Given the description of an element on the screen output the (x, y) to click on. 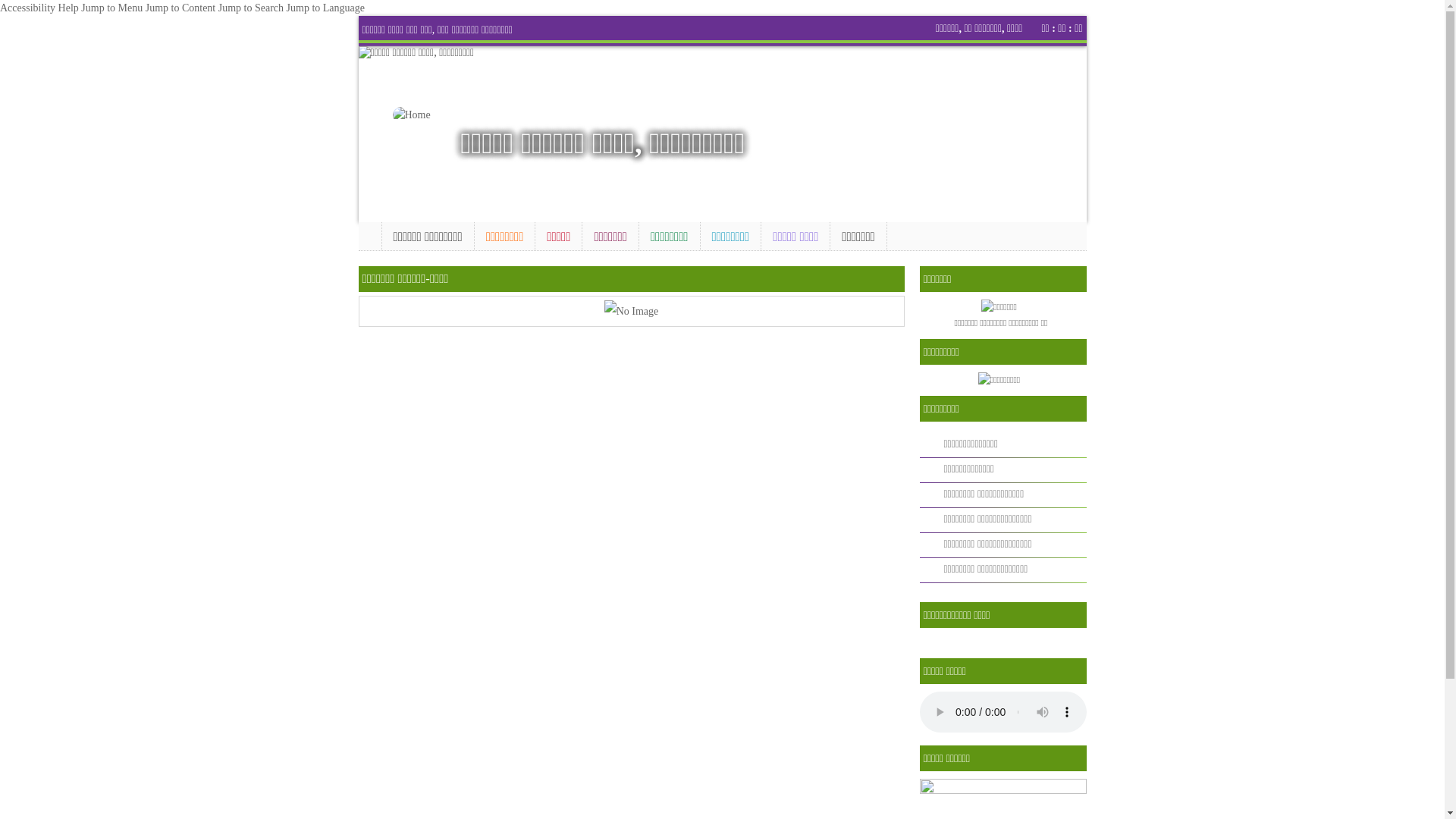
Jump to Menu Element type: text (111, 7)
Home Element type: hover (368, 233)
Home Element type: hover (418, 114)
Accessibility Help Element type: text (39, 7)
Jump to Search Element type: text (250, 7)
Jump to Language Element type: text (325, 7)
Jump to Content Element type: text (180, 7)
